Given the description of an element on the screen output the (x, y) to click on. 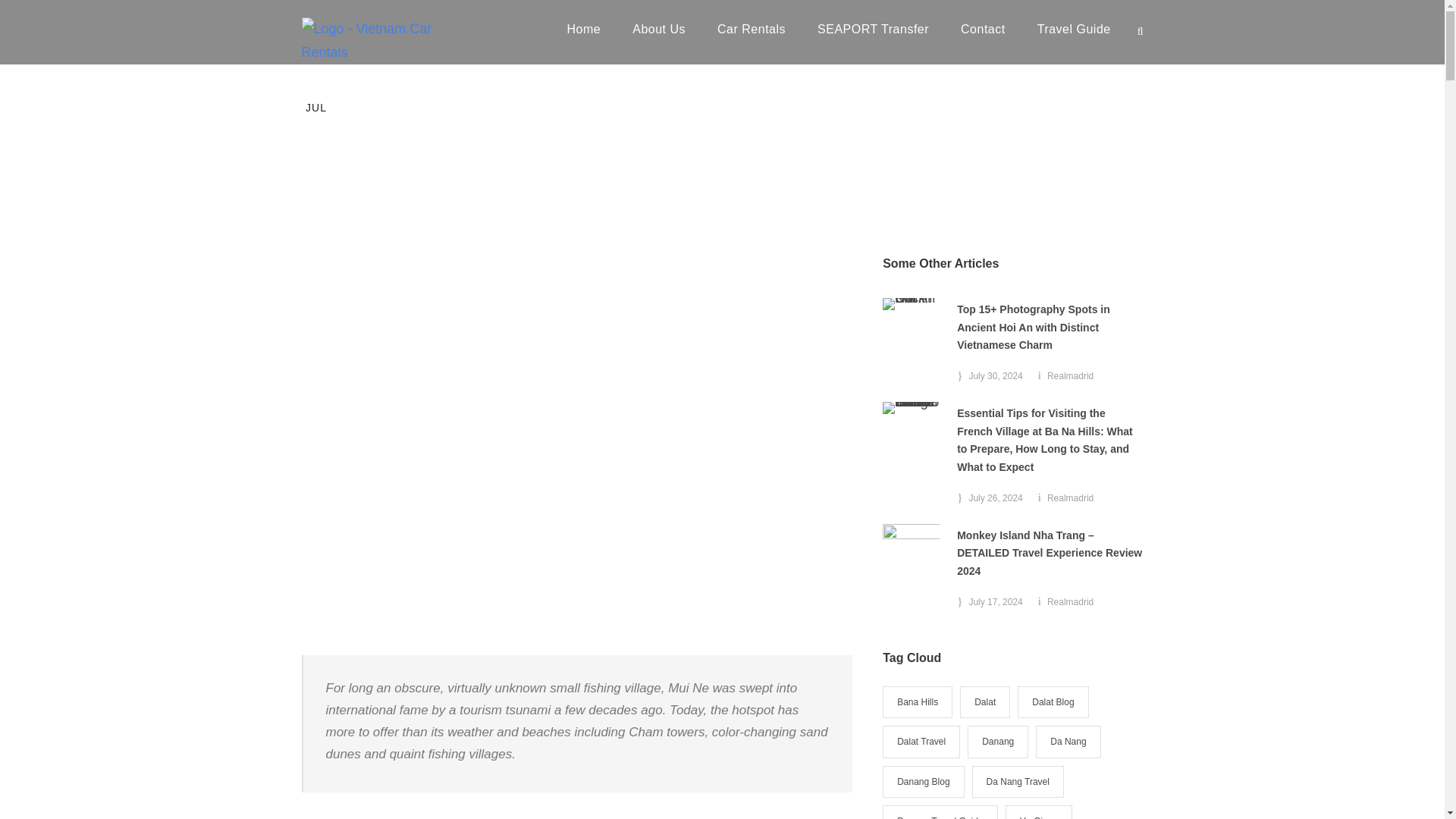
Posts by Realmadrid (407, 82)
Posts by Realmadrid (1069, 376)
Posts by Realmadrid (1069, 602)
Posts by Realmadrid (1069, 498)
